Given the description of an element on the screen output the (x, y) to click on. 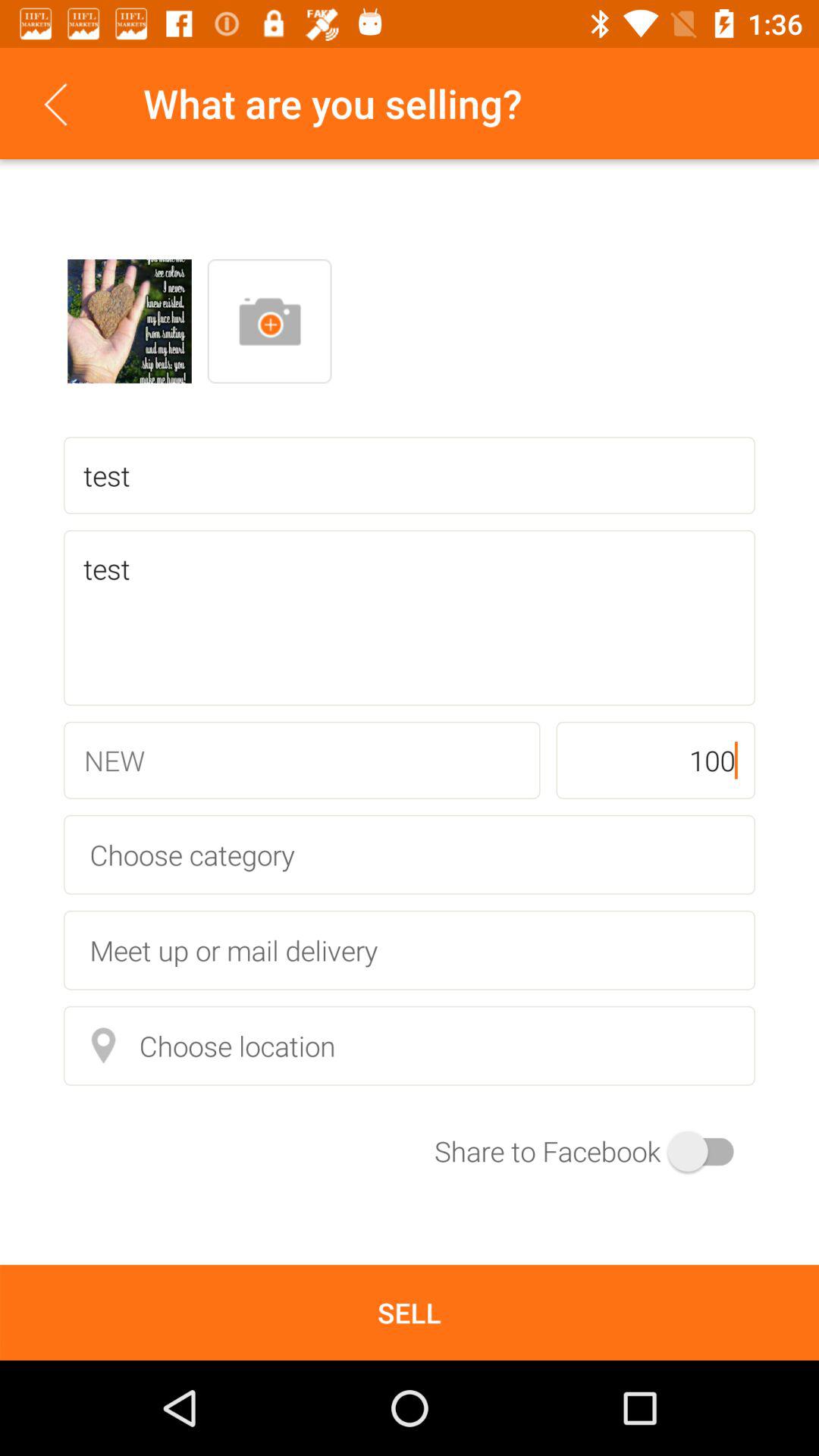
flip until the 100 item (655, 760)
